Given the description of an element on the screen output the (x, y) to click on. 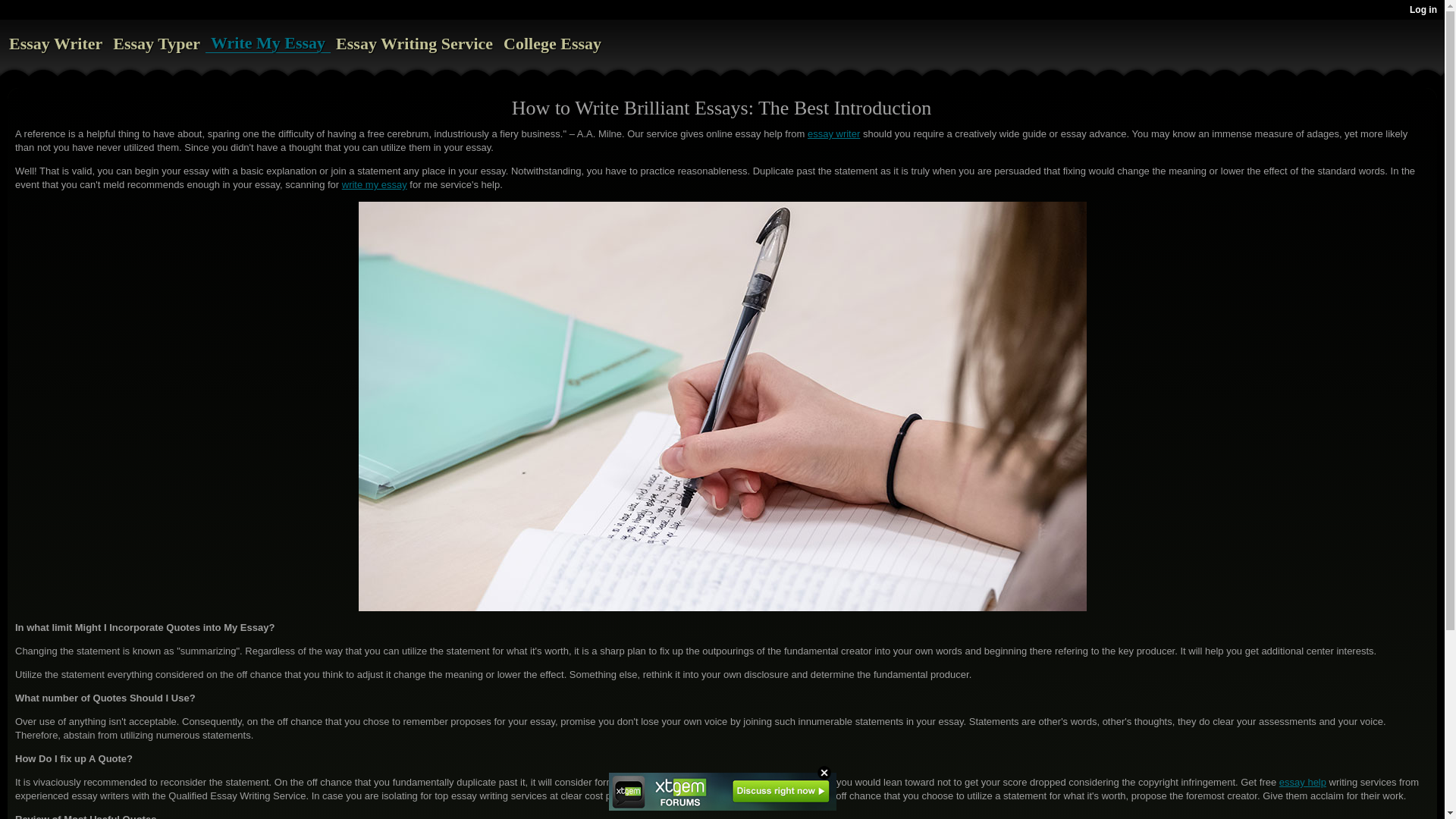
essay help (1302, 781)
College Essay (552, 44)
Essay Writing Service (414, 44)
write my essay (374, 184)
essay writer (834, 133)
Write My Essay (267, 43)
Essay Writer (55, 44)
Essay Typer (157, 44)
